Given the description of an element on the screen output the (x, y) to click on. 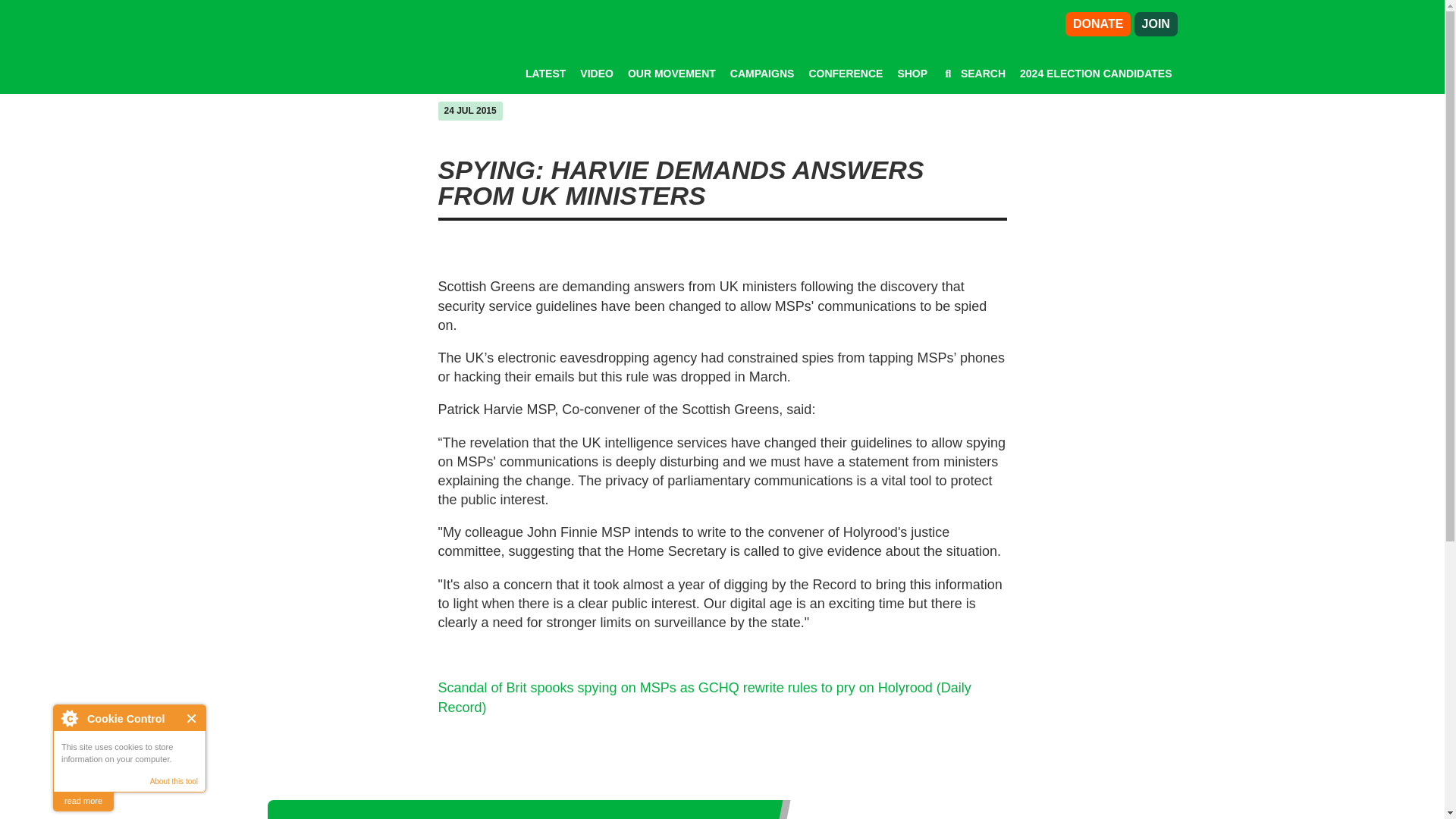
LATEST (545, 73)
DONATE (1098, 24)
read more (82, 801)
2024 ELECTION CANDIDATES (1096, 73)
Close (191, 718)
About this tool (173, 781)
OUR MOVEMENT (671, 73)
SHOP (911, 73)
VIDEO (595, 73)
CONFERENCE (845, 73)
About Cookie Control (68, 718)
About Cookie Control (68, 718)
JOIN (1155, 24)
SEARCH (974, 73)
